Given the description of an element on the screen output the (x, y) to click on. 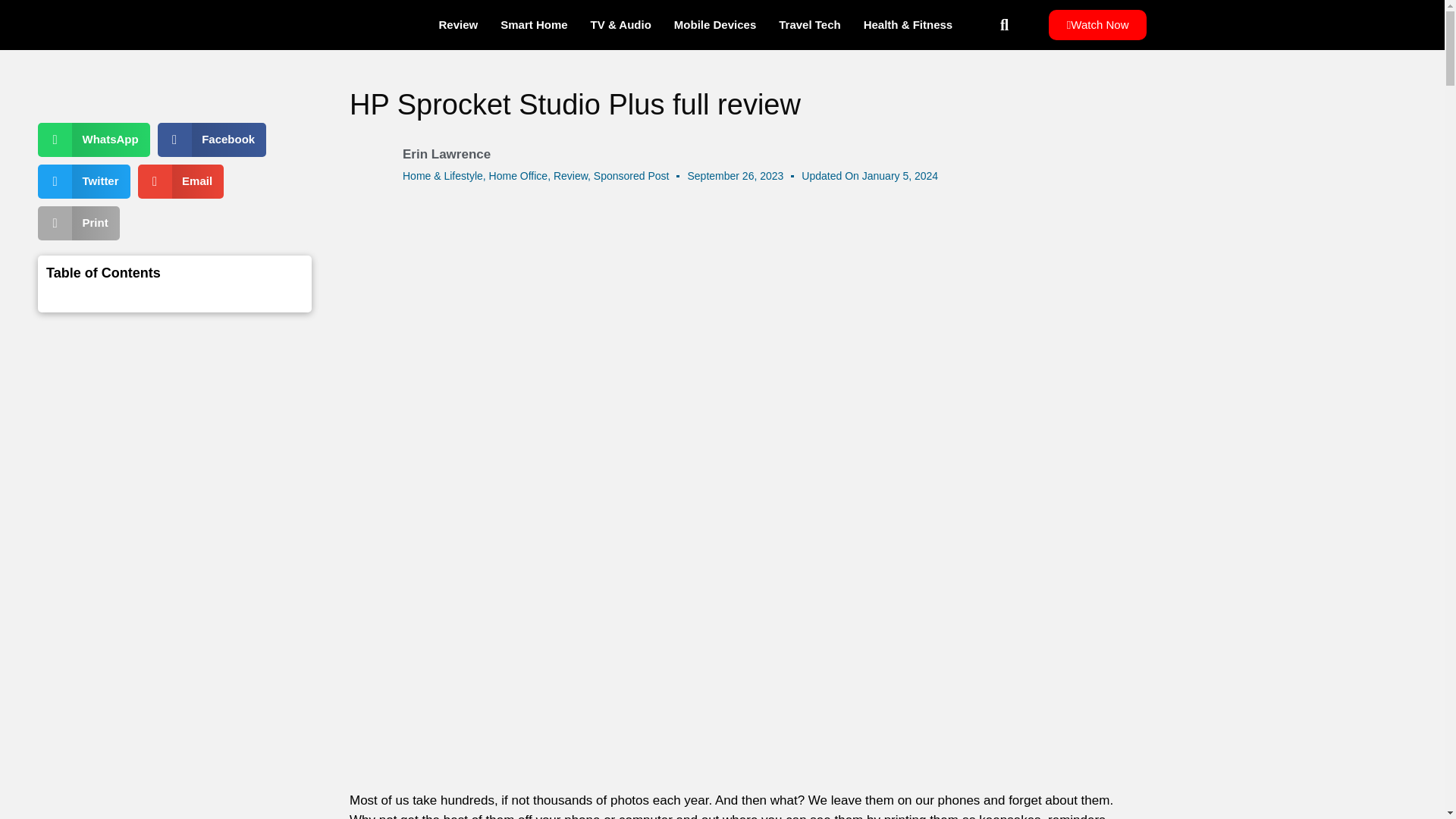
Review (570, 175)
Review (458, 24)
Home Office (518, 175)
Smart Home (533, 24)
Watch Now (1097, 24)
Mobile Devices (714, 24)
Sponsored Post (631, 175)
Travel Tech (809, 24)
September 26, 2023 (735, 176)
